Given the description of an element on the screen output the (x, y) to click on. 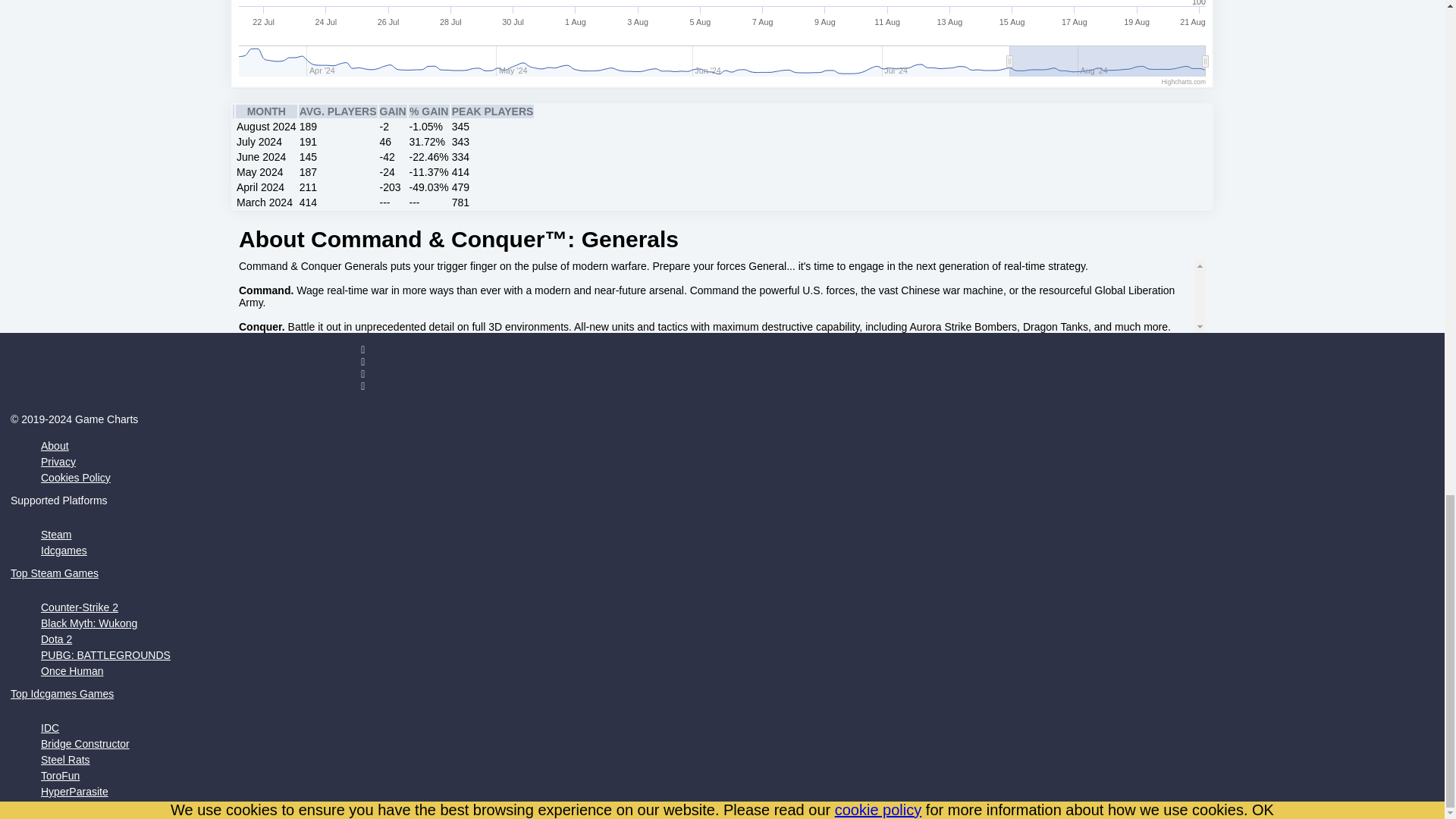
Privacy (57, 461)
Top Steam Games (54, 573)
Steel Rats (65, 759)
Top Idcgames Games (61, 693)
Once Human (71, 671)
Dota 2 (55, 639)
IDC (49, 727)
Idcgames (63, 550)
Bridge Constructor (84, 743)
Steam (55, 534)
